Given the description of an element on the screen output the (x, y) to click on. 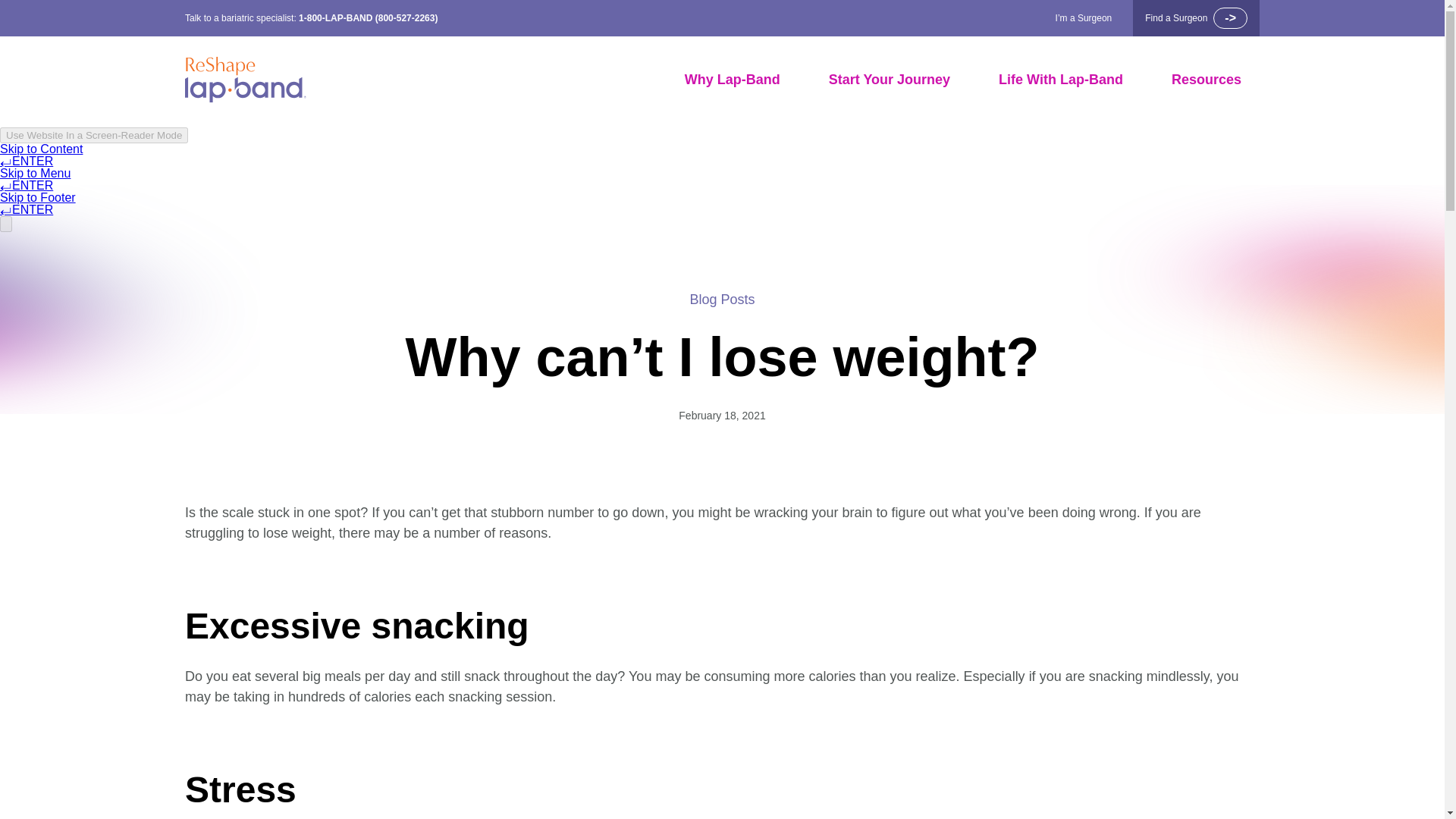
Resources (1206, 79)
Life With Lap-Band (1060, 79)
logo (244, 79)
Why Lap-Band (732, 79)
Start Your Journey (889, 79)
